Given the description of an element on the screen output the (x, y) to click on. 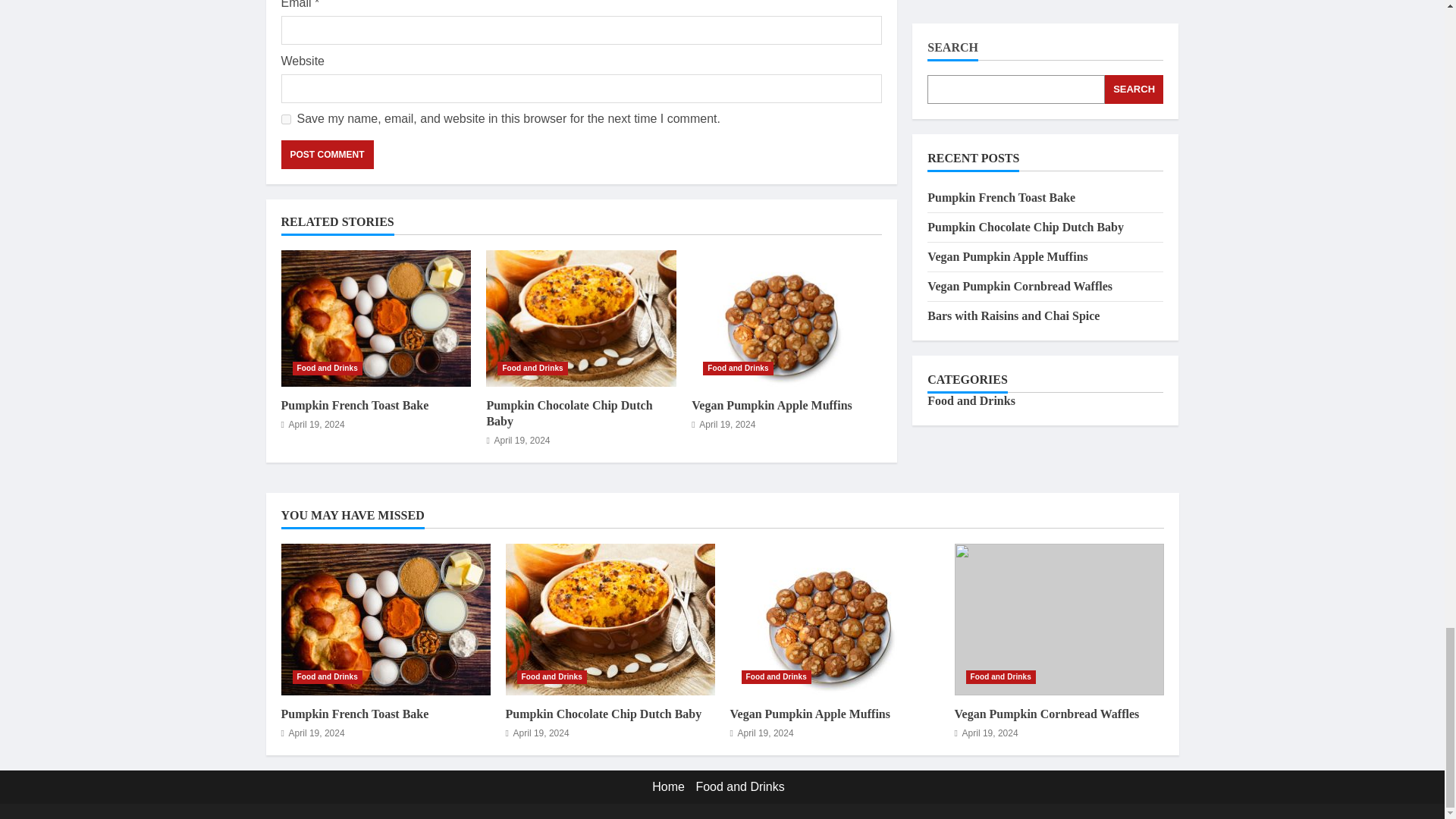
Vegan Pumpkin Apple Muffins (771, 404)
Post Comment (326, 154)
Food and Drinks (738, 368)
Pumpkin Chocolate Chip Dutch Baby (581, 318)
Food and Drinks (775, 676)
Pumpkin French Toast Bake (354, 404)
Food and Drinks (532, 368)
Pumpkin French Toast Bake (385, 619)
Pumpkin Chocolate Chip Dutch Baby (569, 412)
Pumpkin French Toast Bake (354, 713)
Food and Drinks (551, 676)
Post Comment (326, 154)
Pumpkin French Toast Bake (375, 318)
Pumpkin Chocolate Chip Dutch Baby (609, 619)
Food and Drinks (327, 676)
